Given the description of an element on the screen output the (x, y) to click on. 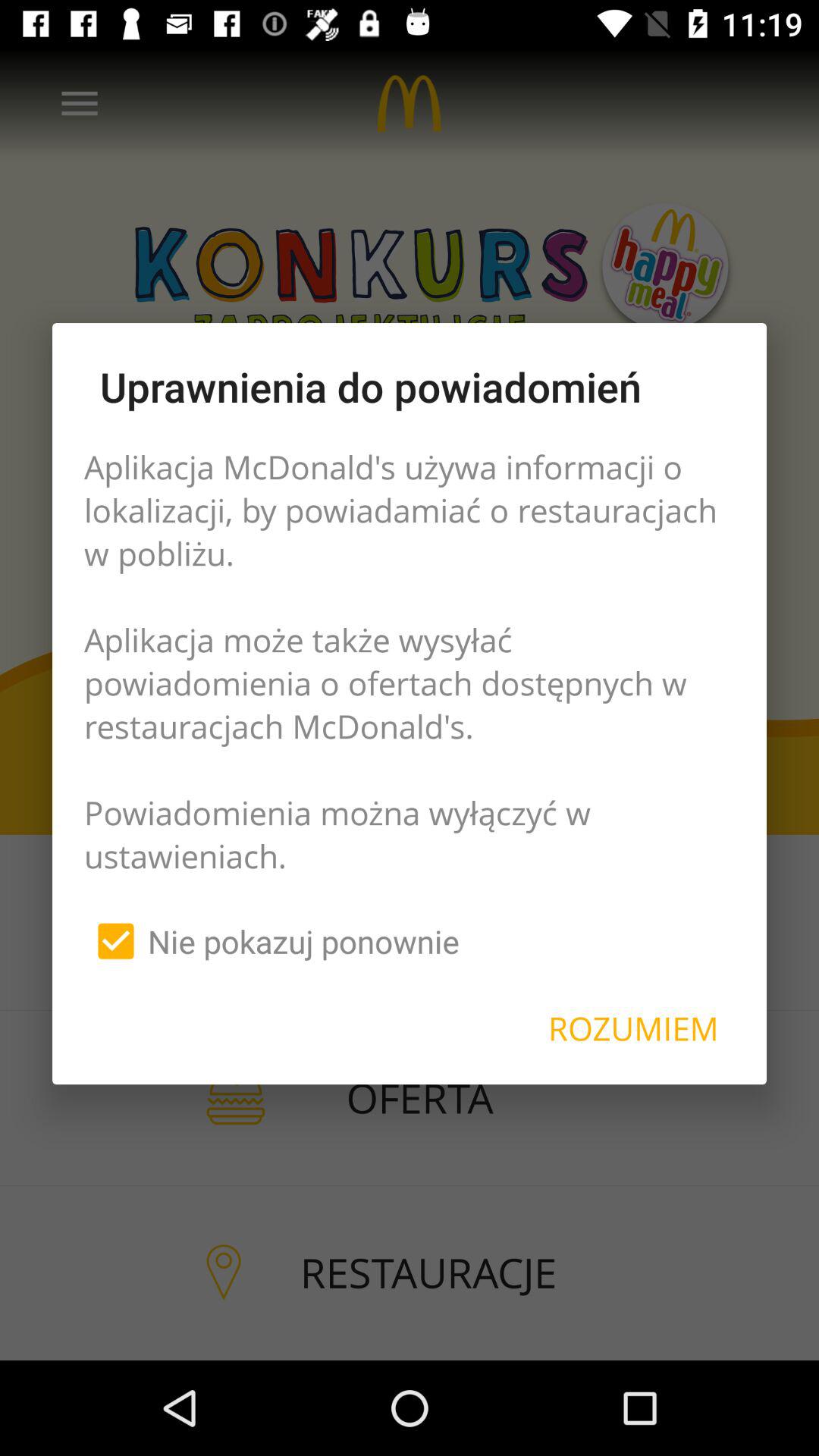
click icon to the right of the nie pokazuj ponownie item (633, 1028)
